Given the description of an element on the screen output the (x, y) to click on. 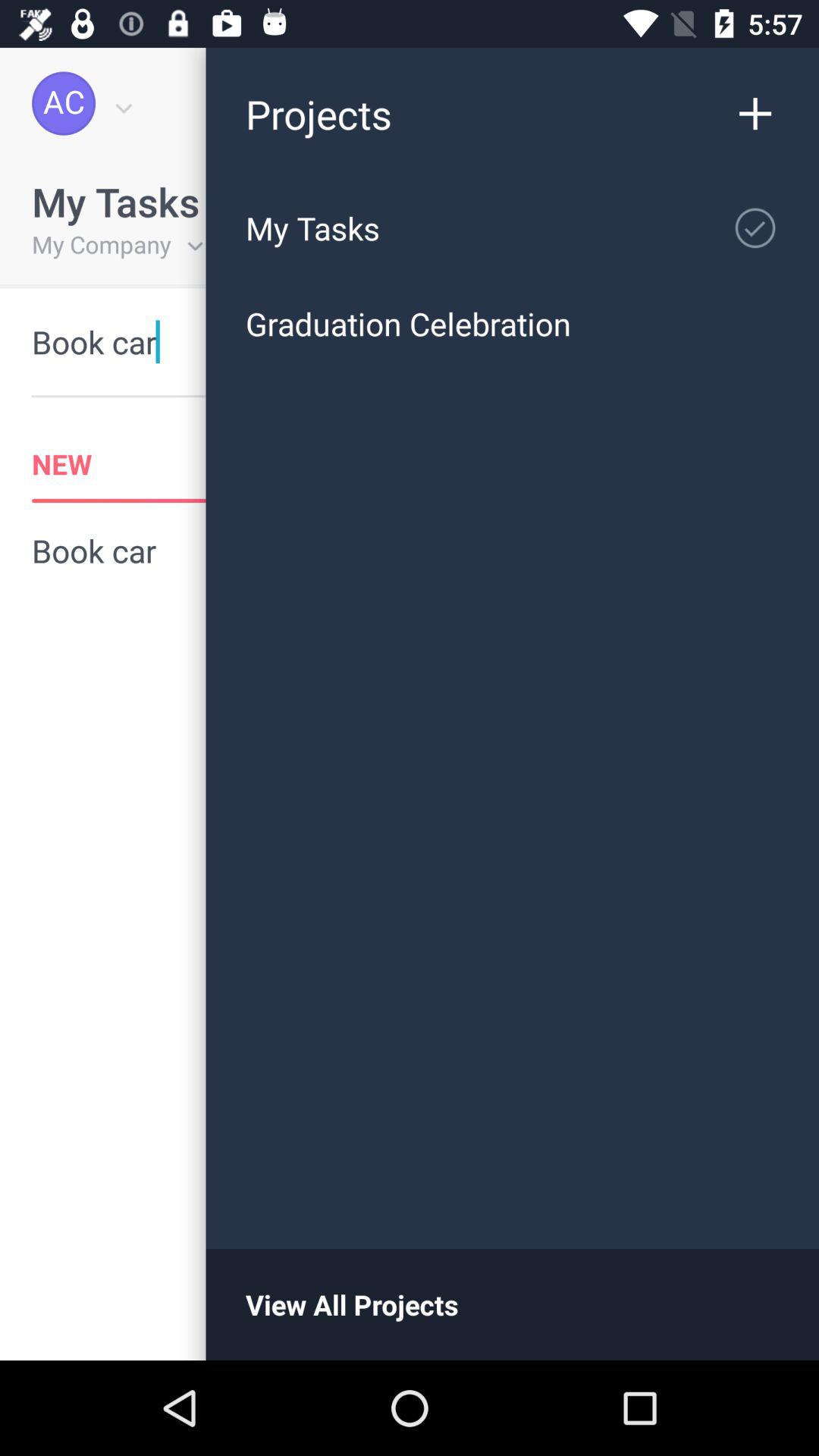
click on icon below  (755, 227)
click on drop down right to ac (121, 103)
click on the button beside projects (763, 103)
